Given the description of an element on the screen output the (x, y) to click on. 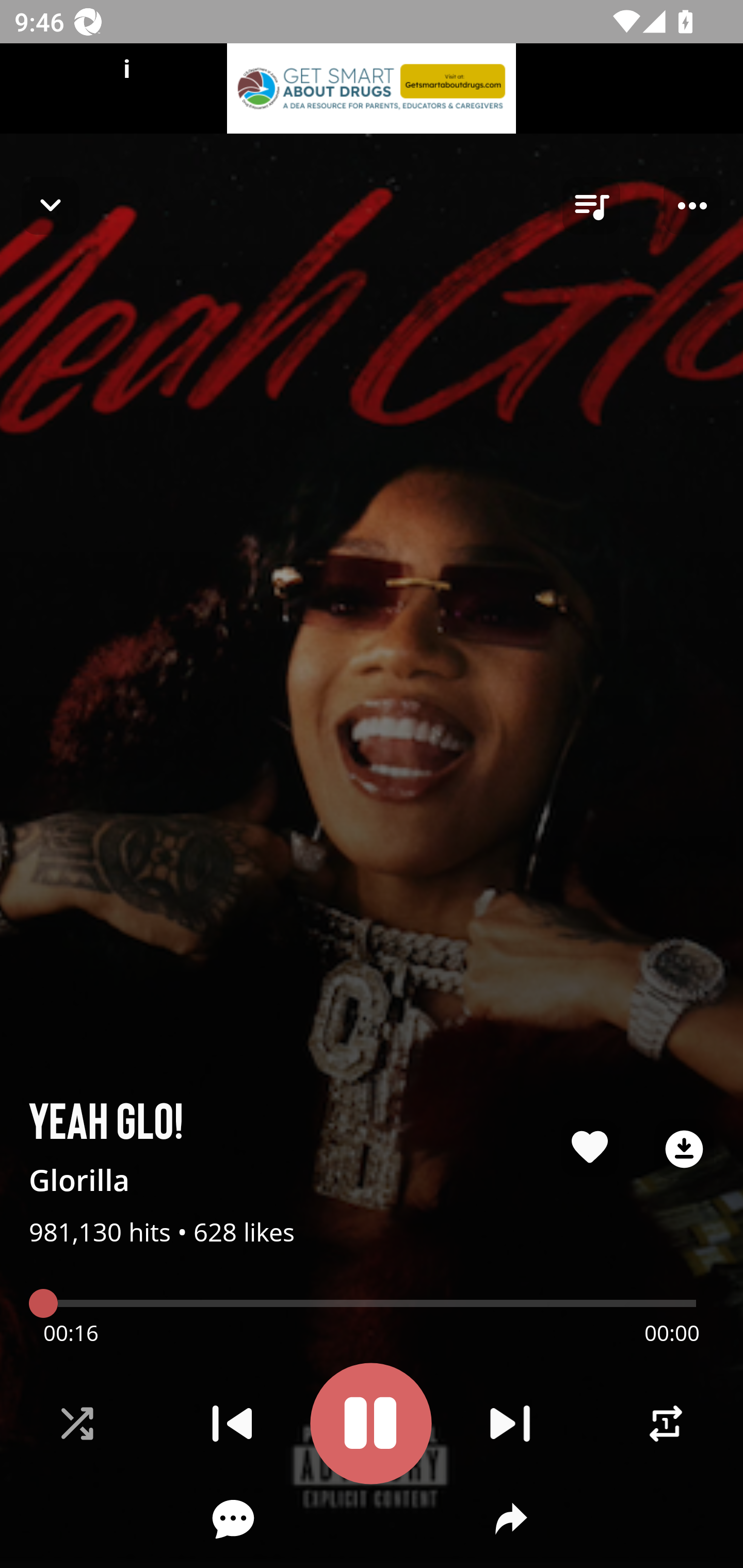
Navigate up (50, 205)
queue (590, 206)
Player options (692, 206)
